Given the description of an element on the screen output the (x, y) to click on. 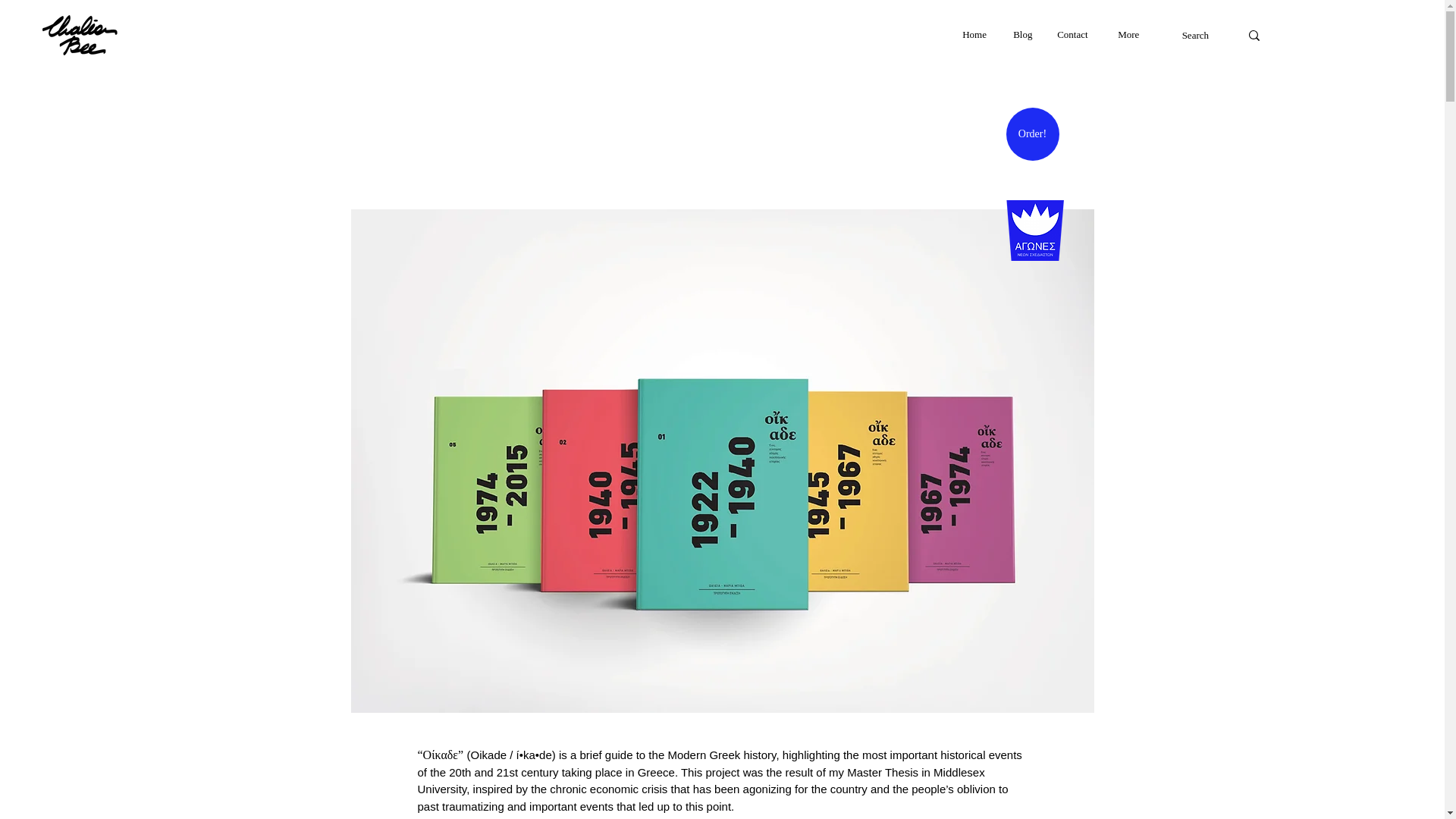
Blog (1023, 34)
Home (975, 34)
Order! (1032, 133)
Contact (1075, 34)
